Given the description of an element on the screen output the (x, y) to click on. 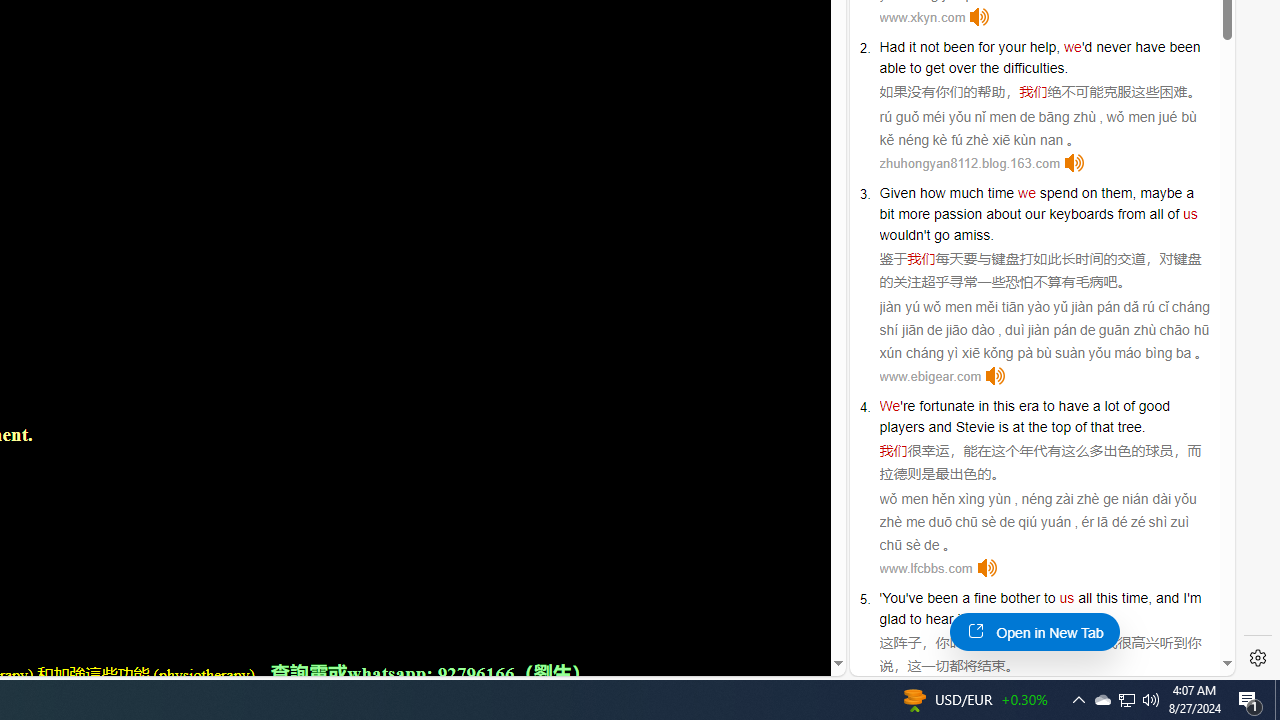
more (914, 213)
help (1043, 46)
a bit (1036, 203)
never (1113, 46)
bother (1019, 597)
zhuhongyan8112.blog.163.com (969, 163)
time (1000, 192)
from (1131, 213)
